Given the description of an element on the screen output the (x, y) to click on. 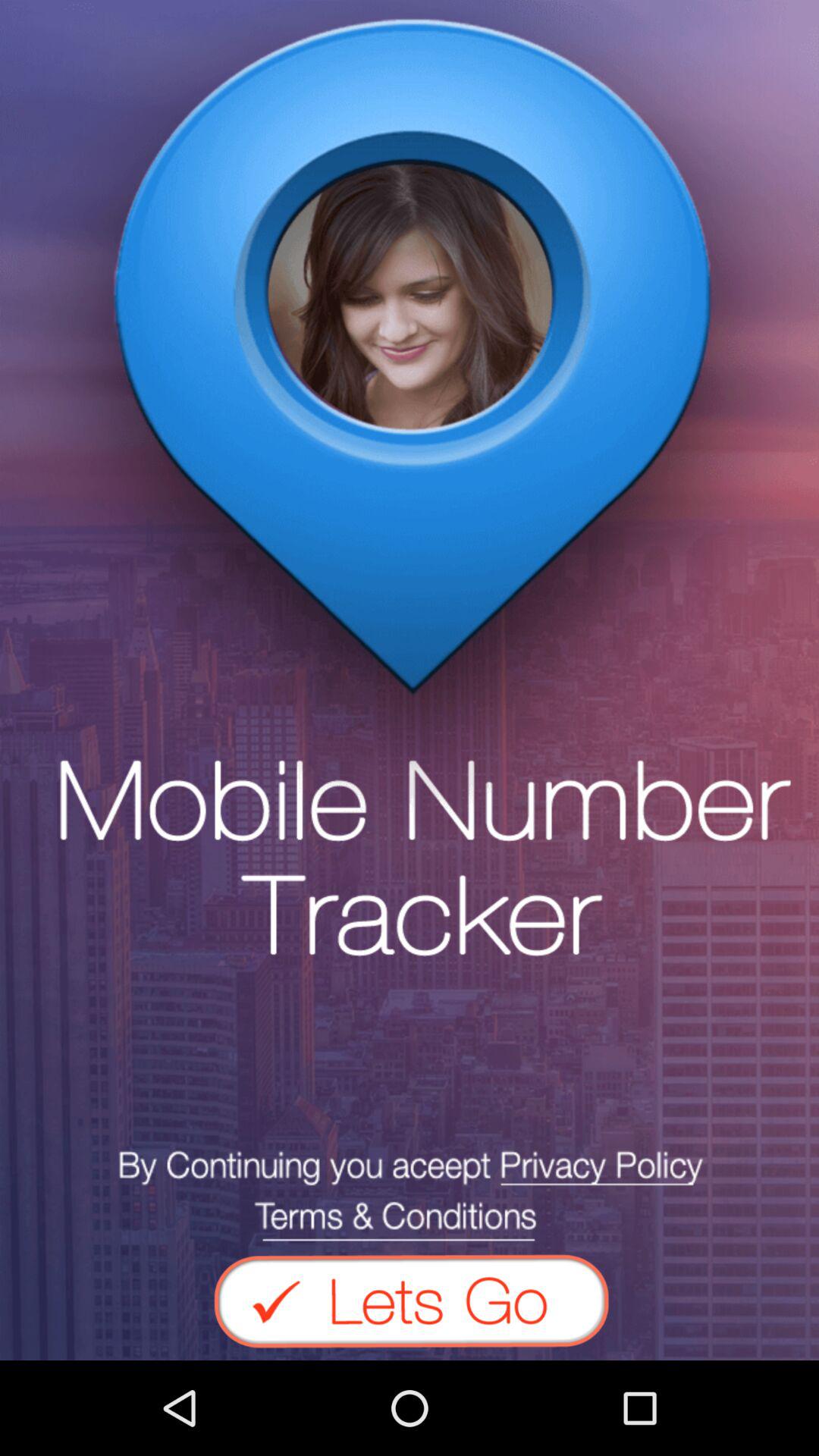
read terms and conditions (409, 1195)
